Given the description of an element on the screen output the (x, y) to click on. 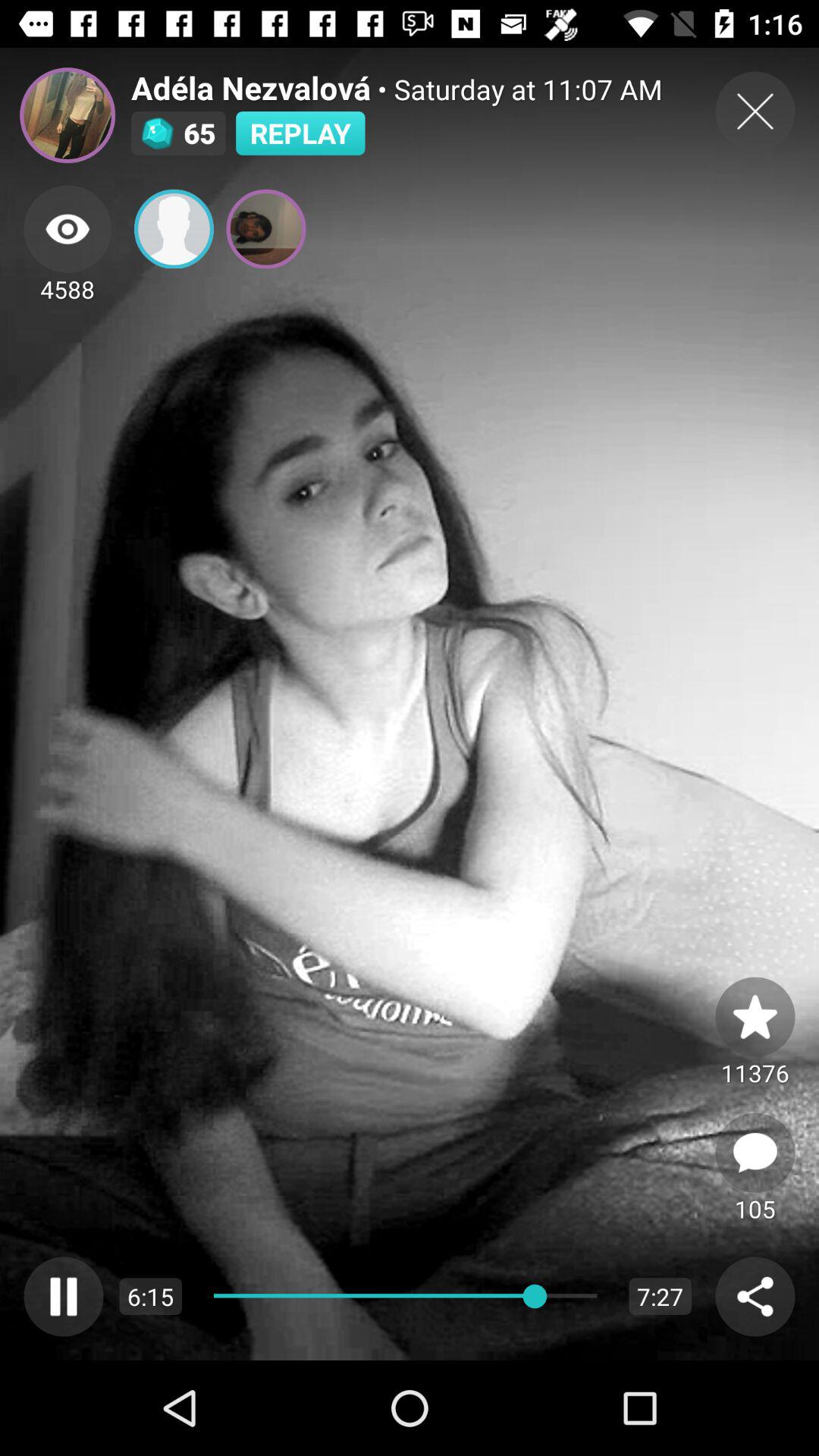
view messages (755, 1152)
